Given the description of an element on the screen output the (x, y) to click on. 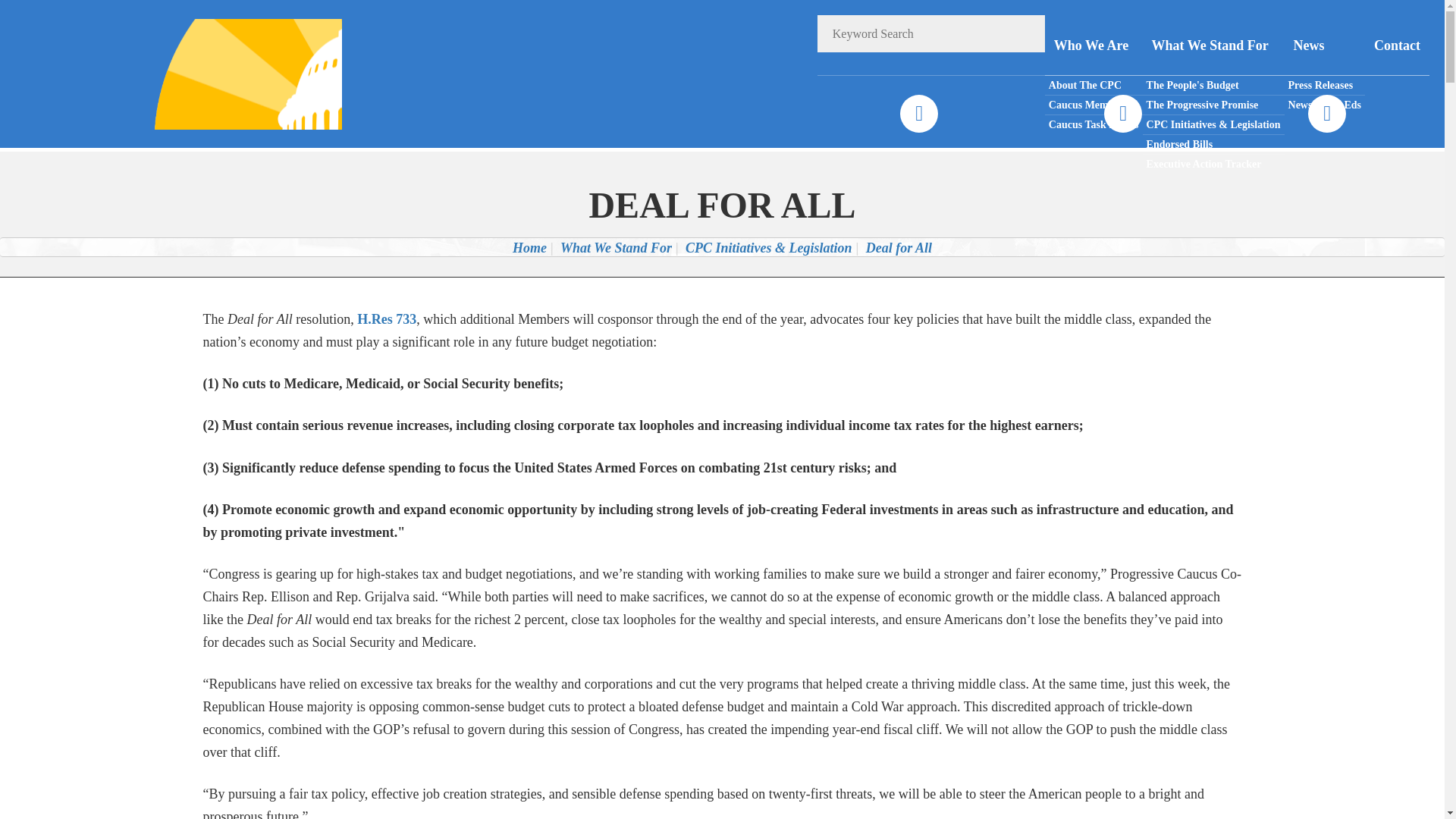
DEAL FOR ALL (722, 205)
Who We Are (1093, 45)
About The CPC (1093, 85)
News (1324, 45)
Go (1026, 33)
Press Releases (1324, 85)
Deal for All (898, 247)
Contact (1397, 45)
The Progressive Promise (1213, 105)
What We Stand For (1213, 45)
What We Stand For (615, 247)
Twitter (1122, 113)
Executive Action Tracker (1213, 163)
YouTube (1326, 113)
Caucus Task Forces (1093, 124)
